Given the description of an element on the screen output the (x, y) to click on. 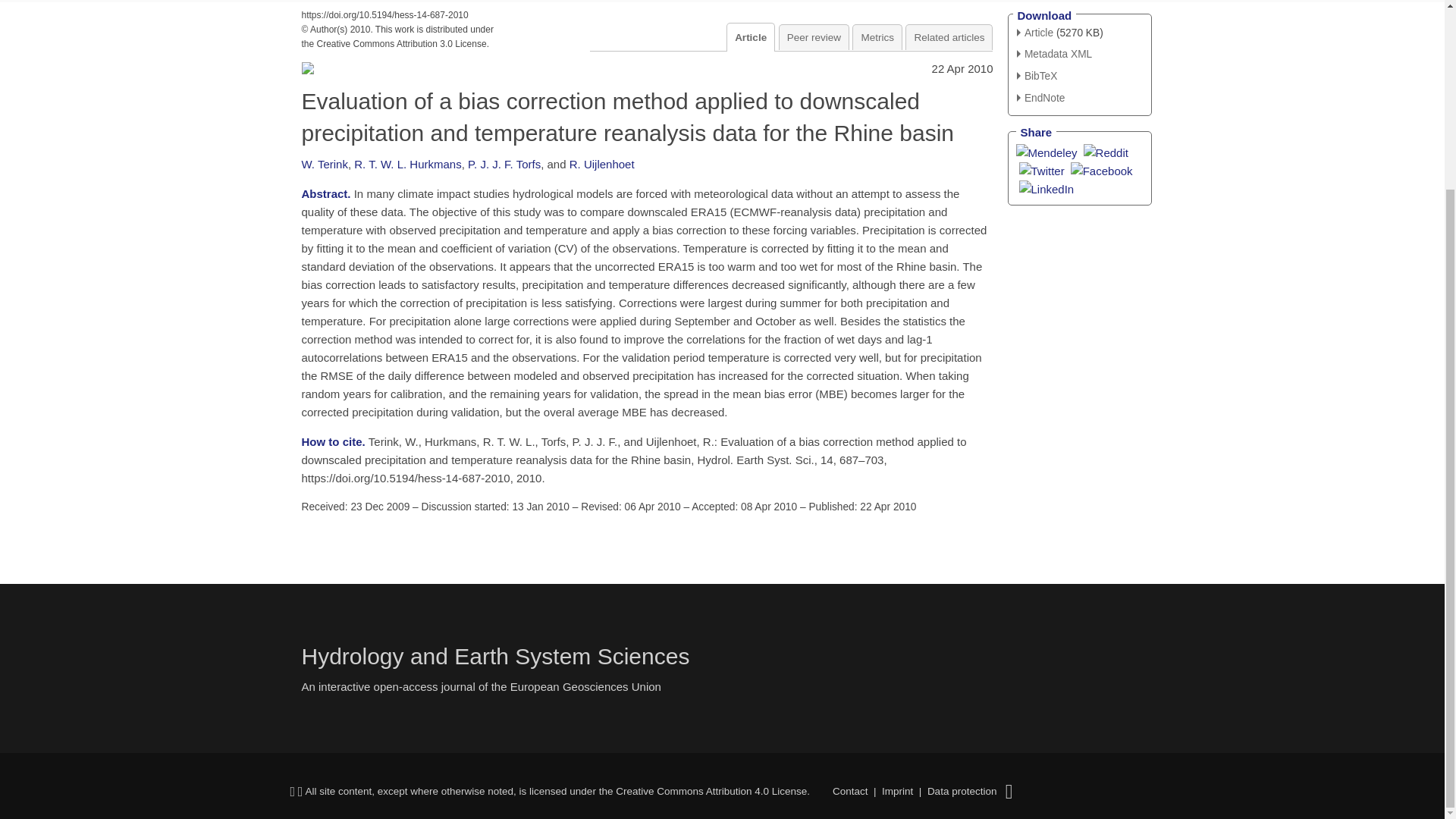
Mendeley (1046, 151)
XML Version (1054, 53)
Twitter (1041, 169)
Reddit (1105, 151)
Facebook (1101, 169)
